Given the description of an element on the screen output the (x, y) to click on. 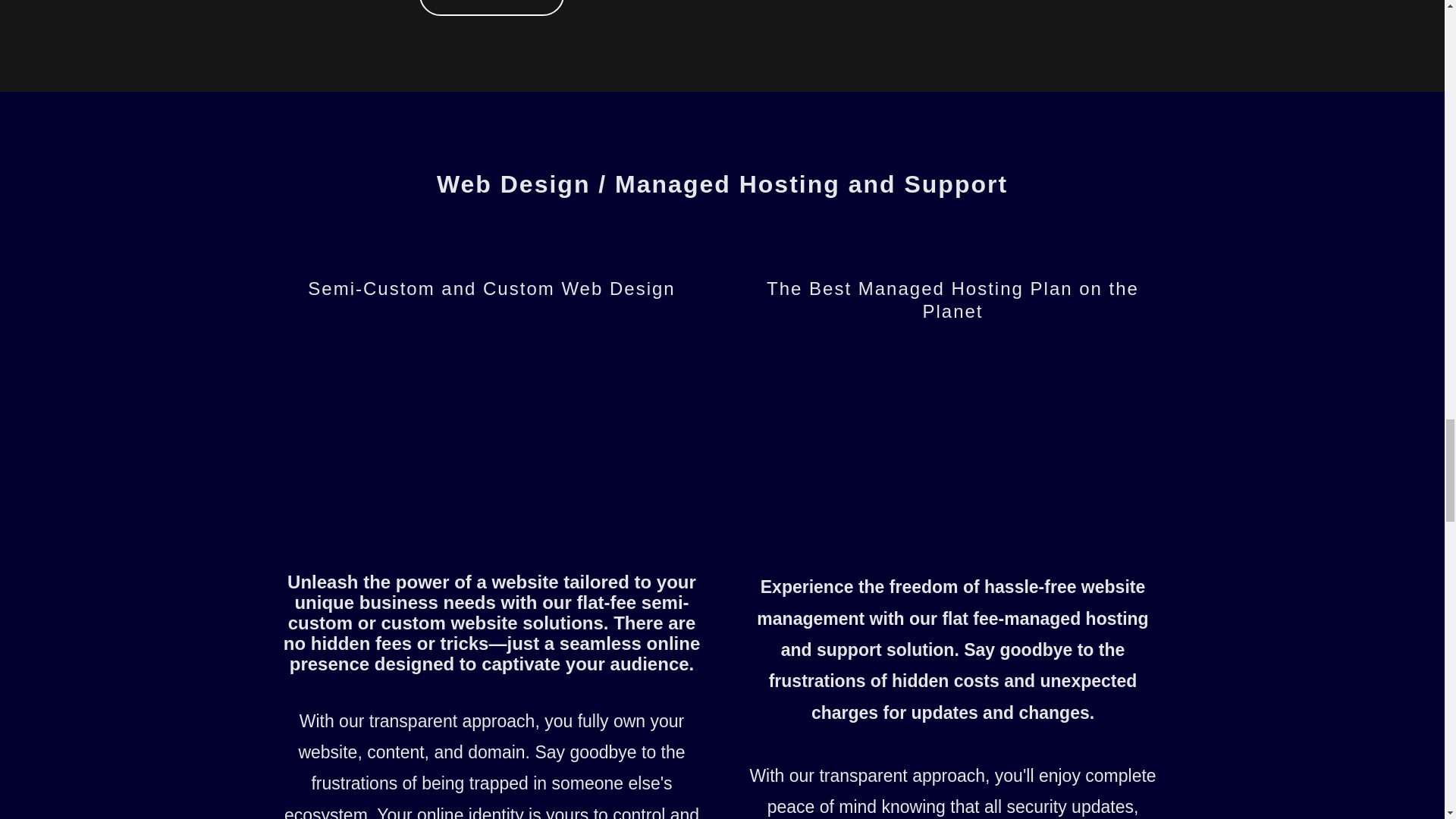
Learn More (491, 7)
